Given the description of an element on the screen output the (x, y) to click on. 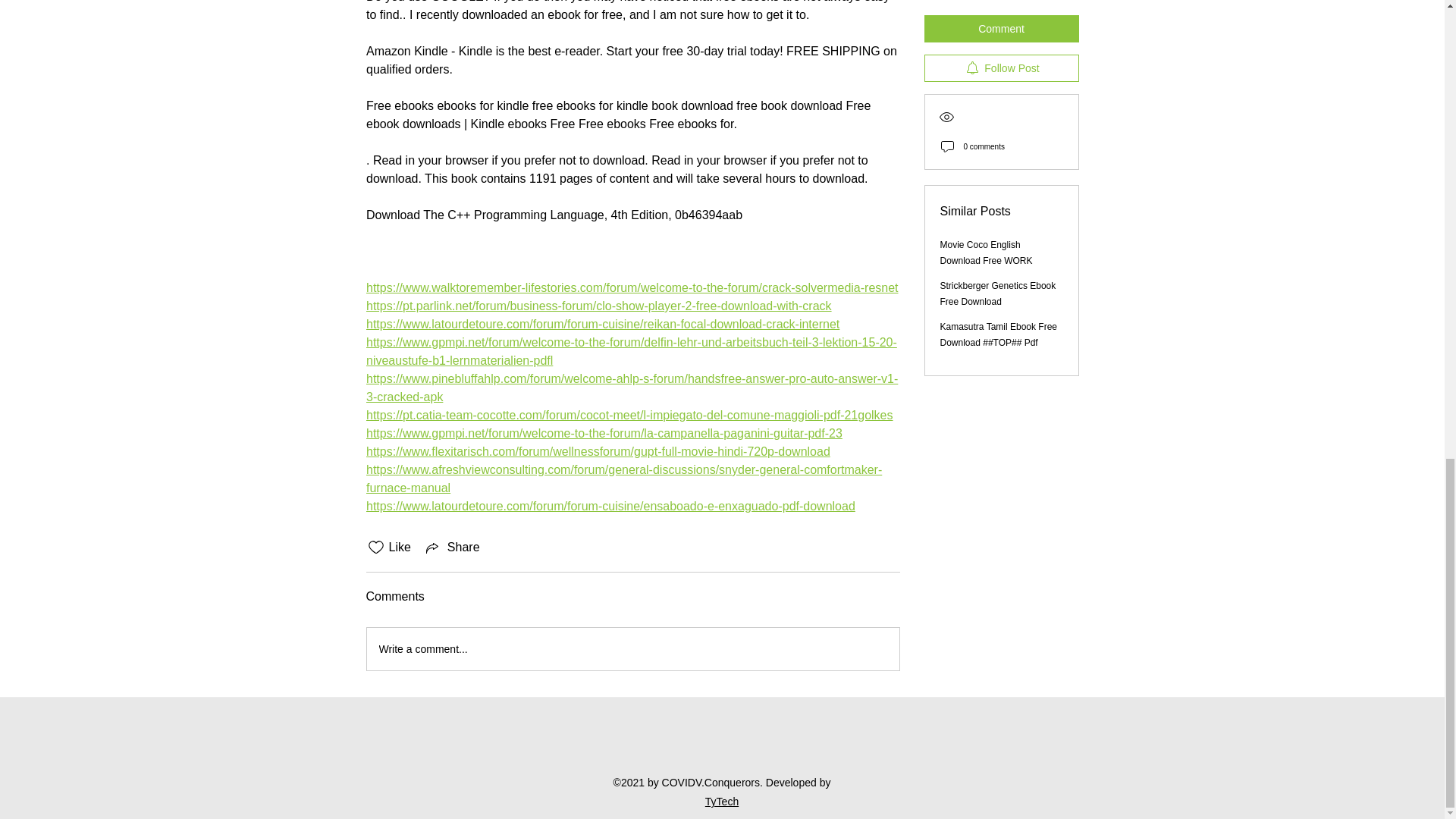
Write a comment... (632, 649)
Share (451, 547)
TyTech (721, 801)
